Given the description of an element on the screen output the (x, y) to click on. 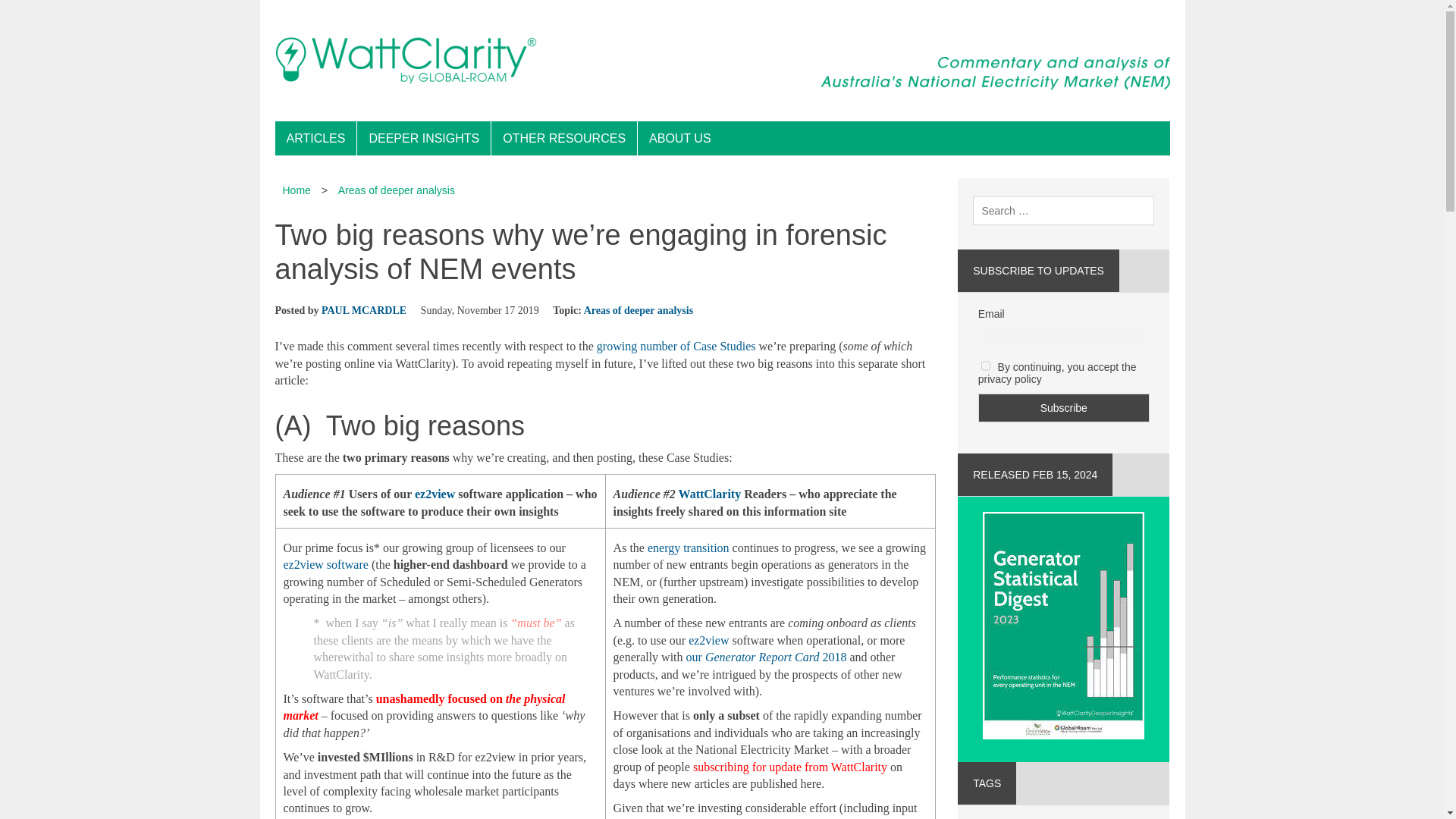
Areas of deeper analysis (638, 310)
ABOUT US (679, 138)
growing number of Case Studies (675, 345)
on (985, 366)
Home (296, 190)
ARTICLES (315, 138)
Areas of deeper analysis (396, 190)
Subscribe (1064, 407)
PAUL MCARDLE (363, 310)
OTHER RESOURCES (564, 138)
WattClarity (709, 493)
ez2view software (325, 563)
ez2view (434, 493)
DEEPER INSIGHTS (423, 138)
WattClarity (722, 60)
